Given the description of an element on the screen output the (x, y) to click on. 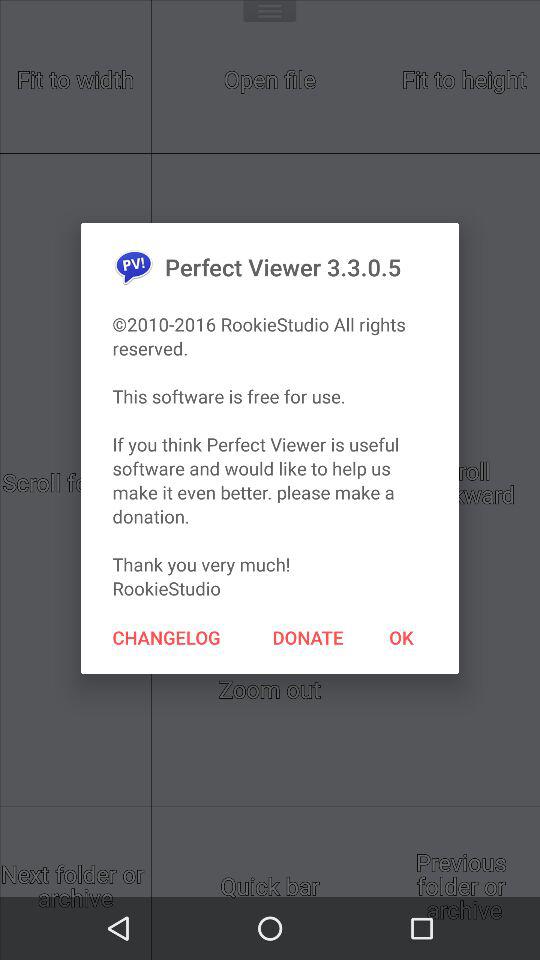
select the item on the left (166, 637)
